Given the description of an element on the screen output the (x, y) to click on. 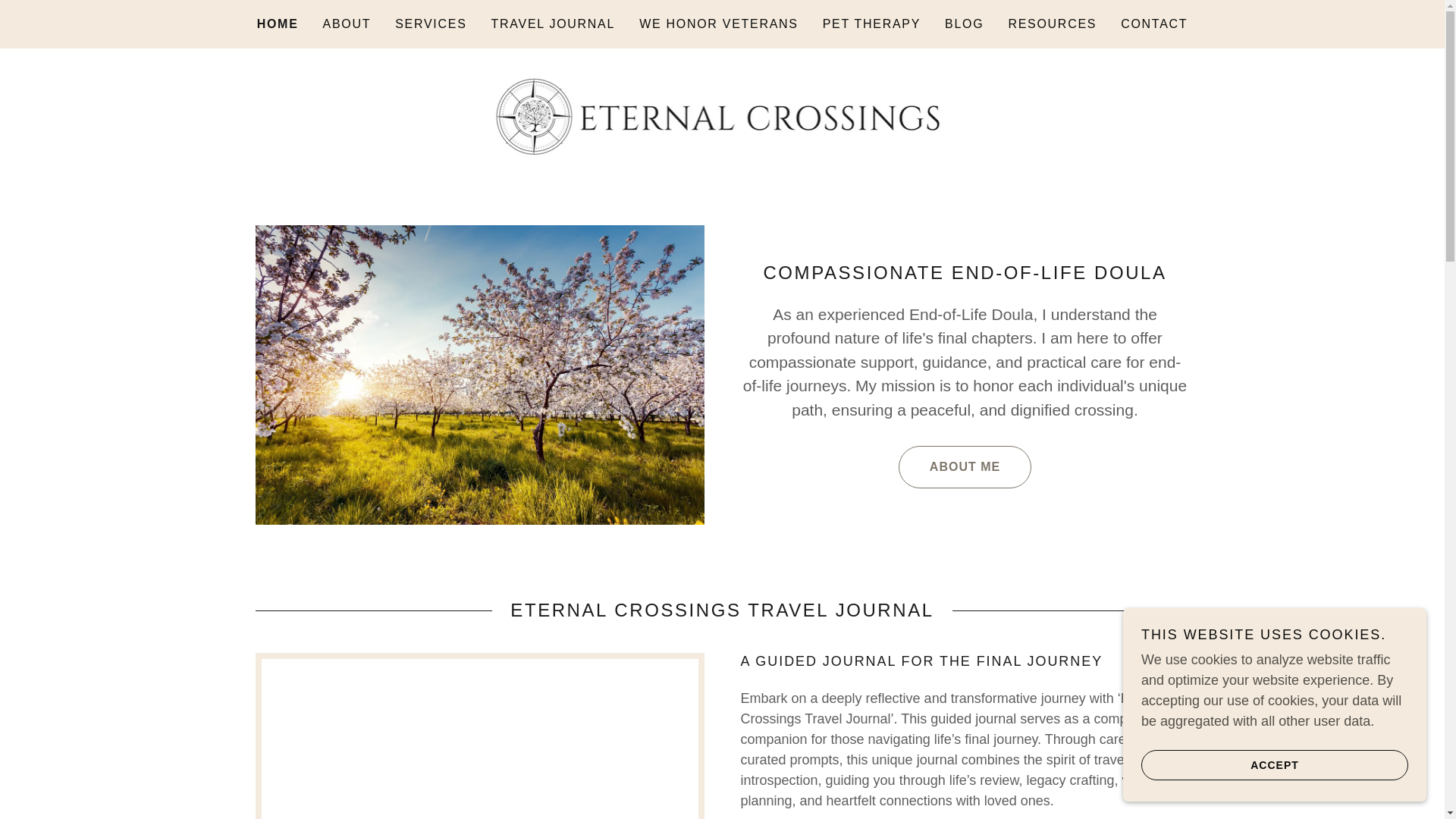
BLOG (964, 23)
CONTACT (1154, 23)
ACCEPT (1274, 764)
ABOUT ME (964, 466)
WE HONOR VETERANS (718, 23)
ABOUT (346, 23)
HOME (277, 24)
PET THERAPY (871, 23)
Eternal Crossings (722, 114)
SERVICES (430, 23)
TRAVEL JOURNAL (553, 23)
RESOURCES (1051, 23)
